Given the description of an element on the screen output the (x, y) to click on. 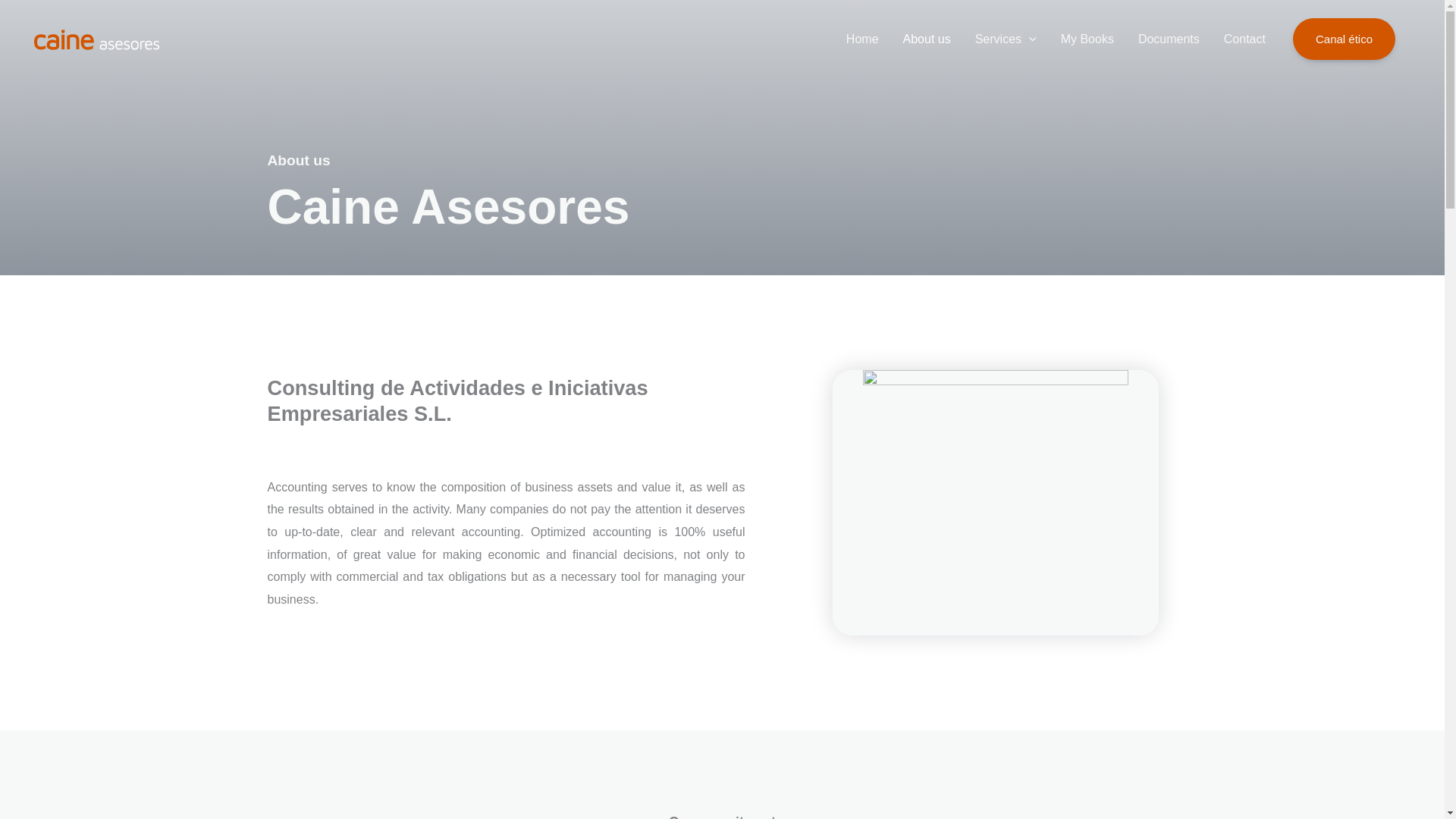
About us (926, 39)
Documents (1168, 39)
Services (1005, 39)
Contact (1244, 39)
Home (862, 39)
My Books (1086, 39)
